Given the description of an element on the screen output the (x, y) to click on. 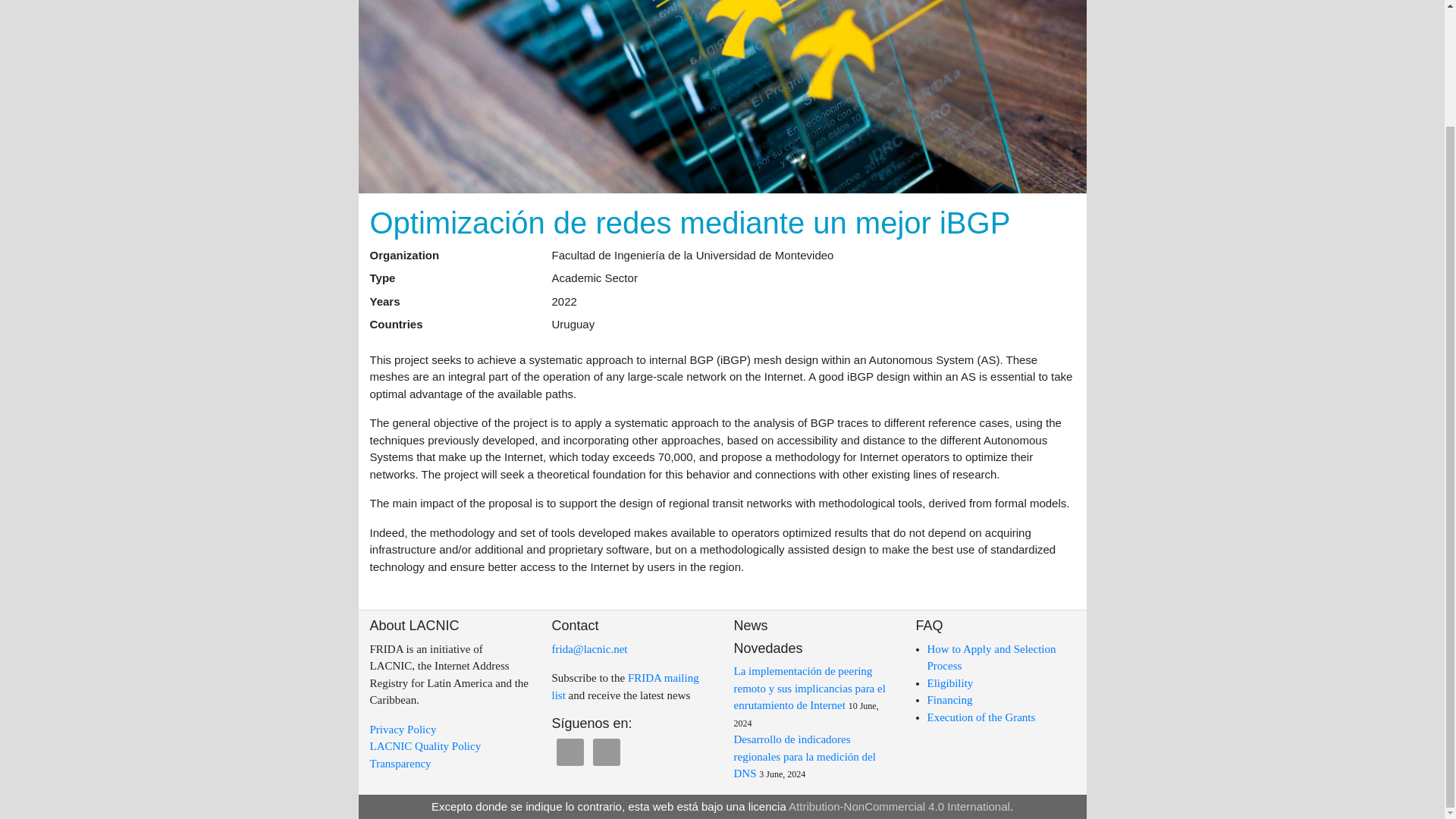
Eligibility (949, 683)
Financing (949, 699)
Attribution-NonCommercial 4.0 International (899, 806)
Novedades (768, 648)
Privacy Policy (402, 729)
Transparency (399, 763)
LACNIC Quality Policy (425, 746)
Execution of the Grants (980, 717)
How to Apply and Selection Process (990, 657)
FRIDA mailing list (624, 686)
News (750, 625)
